Given the description of an element on the screen output the (x, y) to click on. 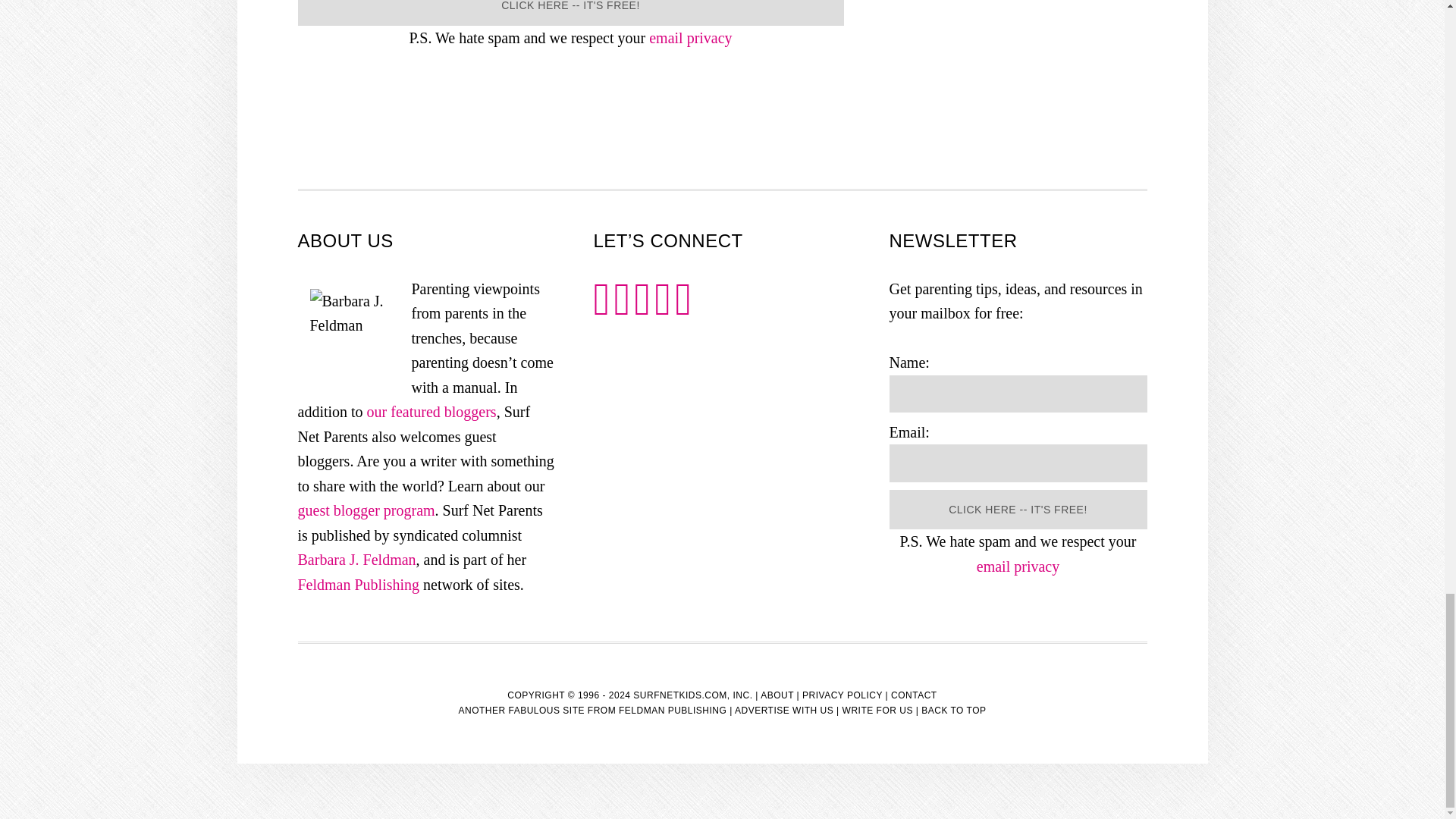
Click Here -- It's Free! (1017, 509)
Click Here -- It's Free! (570, 12)
Privacy Policy (1017, 565)
Privacy Policy (690, 37)
